Given the description of an element on the screen output the (x, y) to click on. 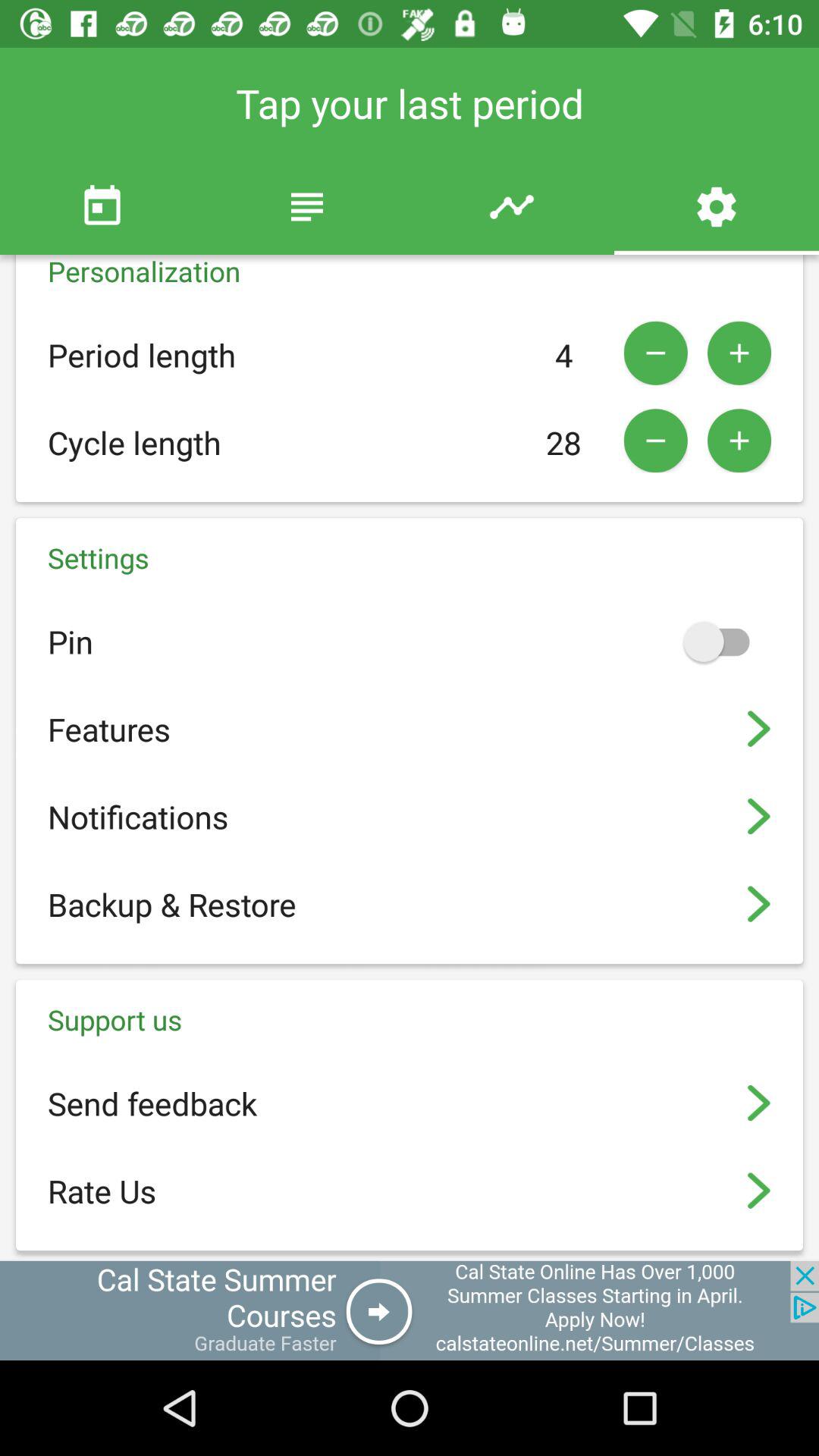
turn on (723, 641)
